Given the description of an element on the screen output the (x, y) to click on. 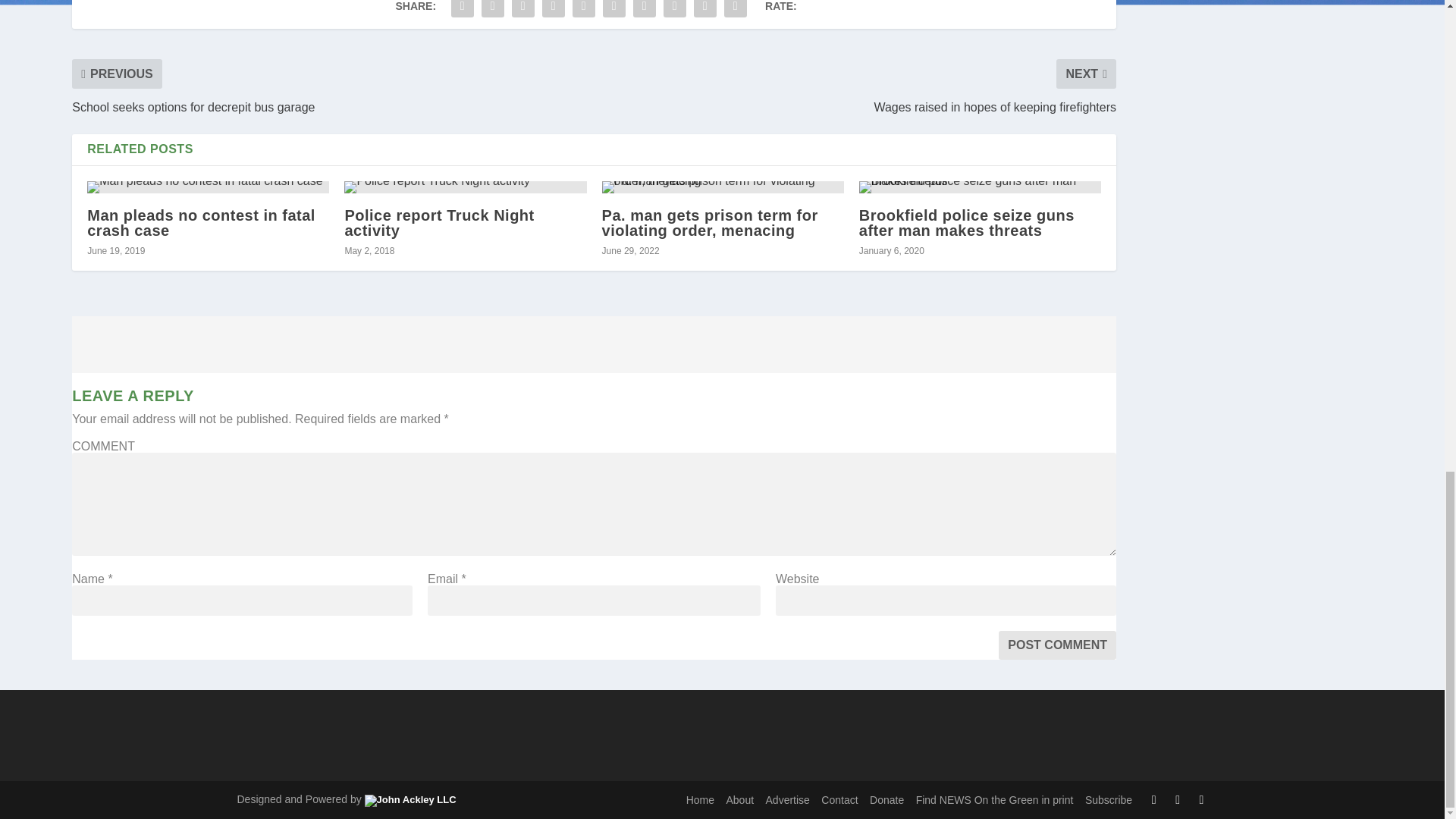
Share "Brothers sentenced on weapons charges" via Pinterest (583, 10)
Share "Brothers sentenced on weapons charges" via Email (705, 10)
Share "Brothers sentenced on weapons charges" via LinkedIn (613, 10)
Man pleads no contest in fatal crash case (208, 186)
Share "Brothers sentenced on weapons charges" via Tumblr (553, 10)
Share "Brothers sentenced on weapons charges" via Buffer (643, 10)
Share "Brothers sentenced on weapons charges" via Twitter (492, 10)
Share "Brothers sentenced on weapons charges" via Facebook (461, 10)
Police report Truck Night activity (464, 186)
Share "Brothers sentenced on weapons charges" via Print (735, 10)
Post Comment (1057, 645)
